Given the description of an element on the screen output the (x, y) to click on. 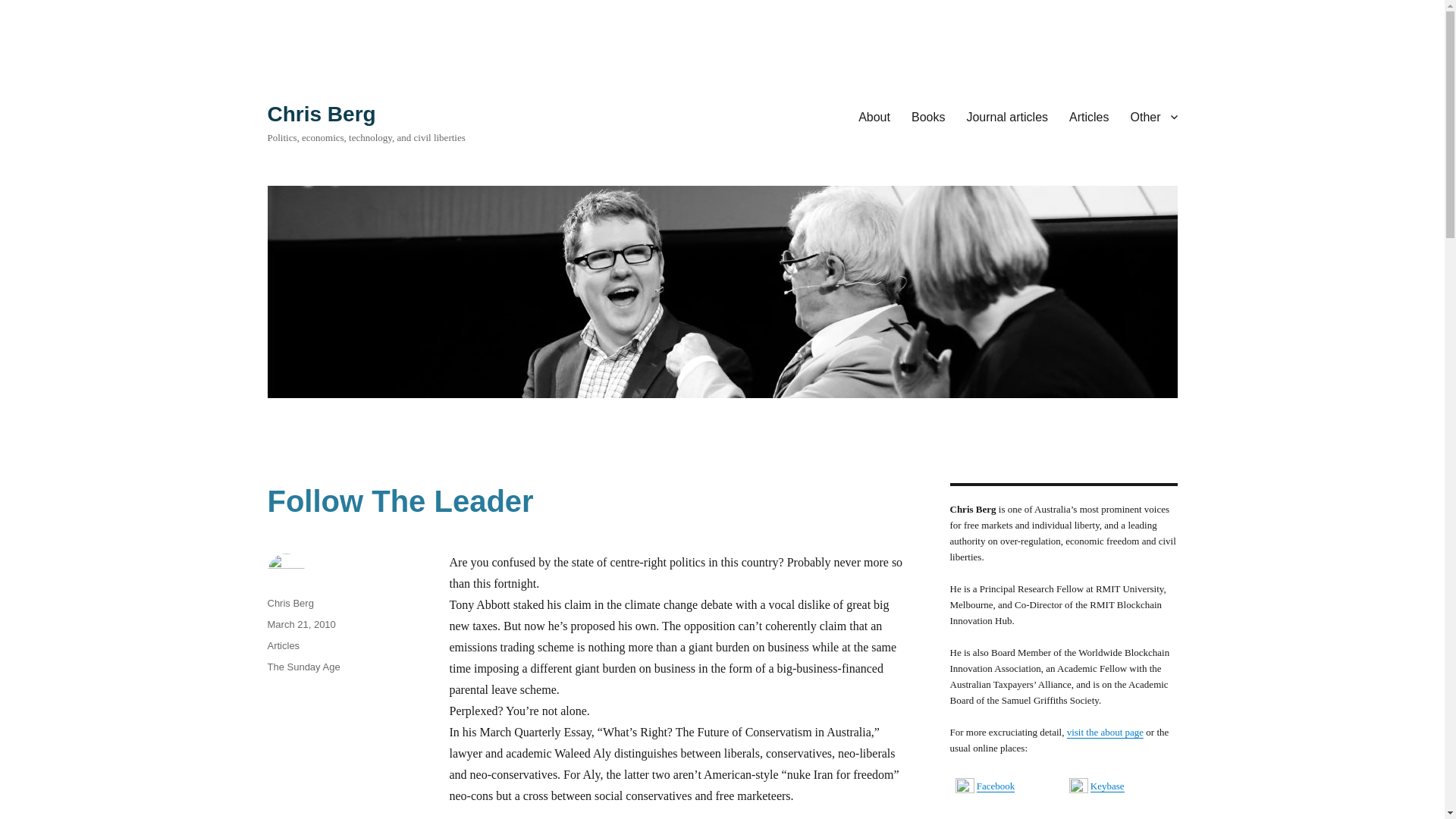
Articles (1088, 116)
The Sunday Age (302, 666)
Chris Berg (320, 114)
Other (1153, 116)
Books (928, 116)
Twitter (990, 816)
Articles (282, 645)
Keybase (1107, 785)
About (874, 116)
Chris Berg (289, 603)
Journal articles (1006, 116)
Facebook (995, 785)
March 21, 2010 (300, 624)
SSRN (1102, 816)
visit the about page (1104, 731)
